Given the description of an element on the screen output the (x, y) to click on. 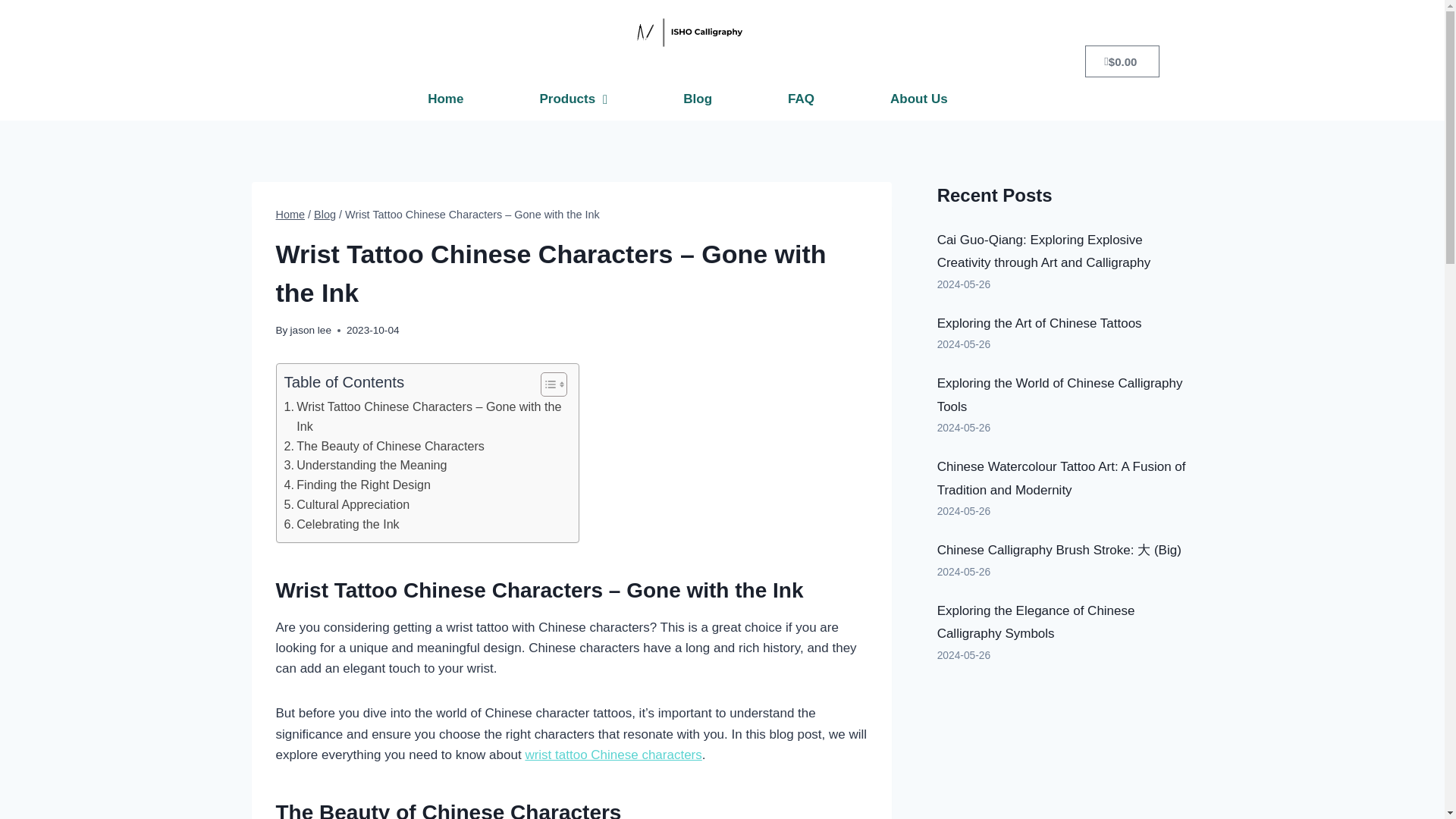
Blog (697, 98)
About Us (918, 98)
Exploring the Elegance of Chinese Calligraphy Symbols (1036, 622)
Understanding the Meaning (364, 465)
Cultural Appreciation (346, 505)
The Beauty of Chinese Characters (383, 446)
jason lee (310, 329)
Home (290, 214)
